Given the description of an element on the screen output the (x, y) to click on. 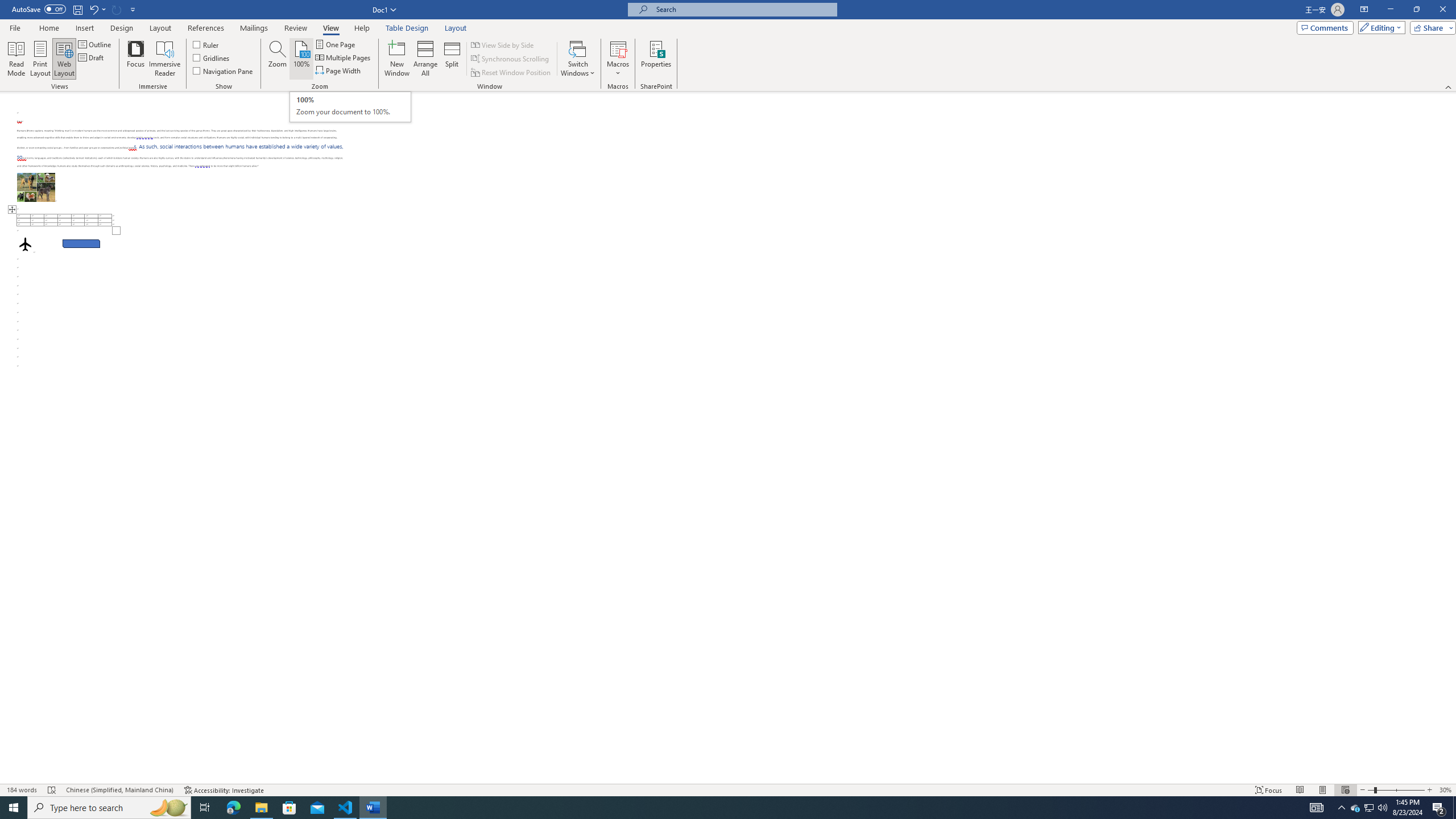
Split (451, 58)
Rectangle: Diagonal Corners Snipped 2 (81, 243)
Multiple Pages (343, 56)
Switch Windows (577, 58)
Zoom (349, 106)
